Given the description of an element on the screen output the (x, y) to click on. 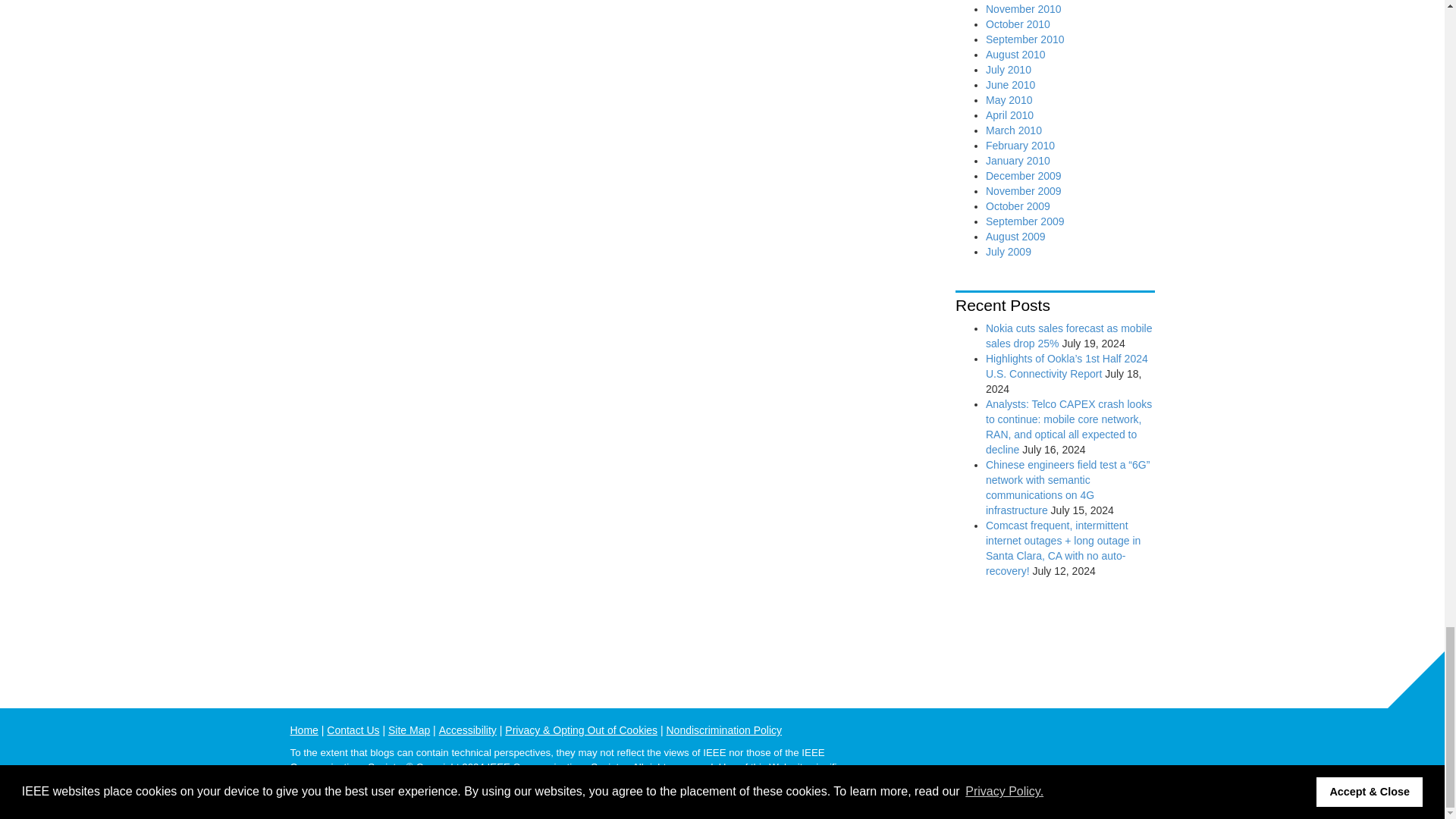
IEEE (1142, 738)
